Given the description of an element on the screen output the (x, y) to click on. 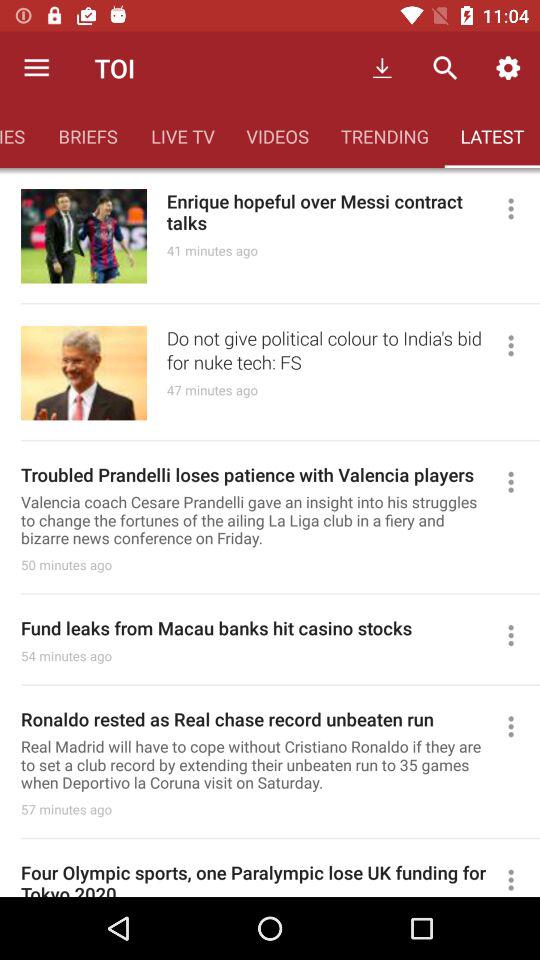
more options (519, 208)
